Given the description of an element on the screen output the (x, y) to click on. 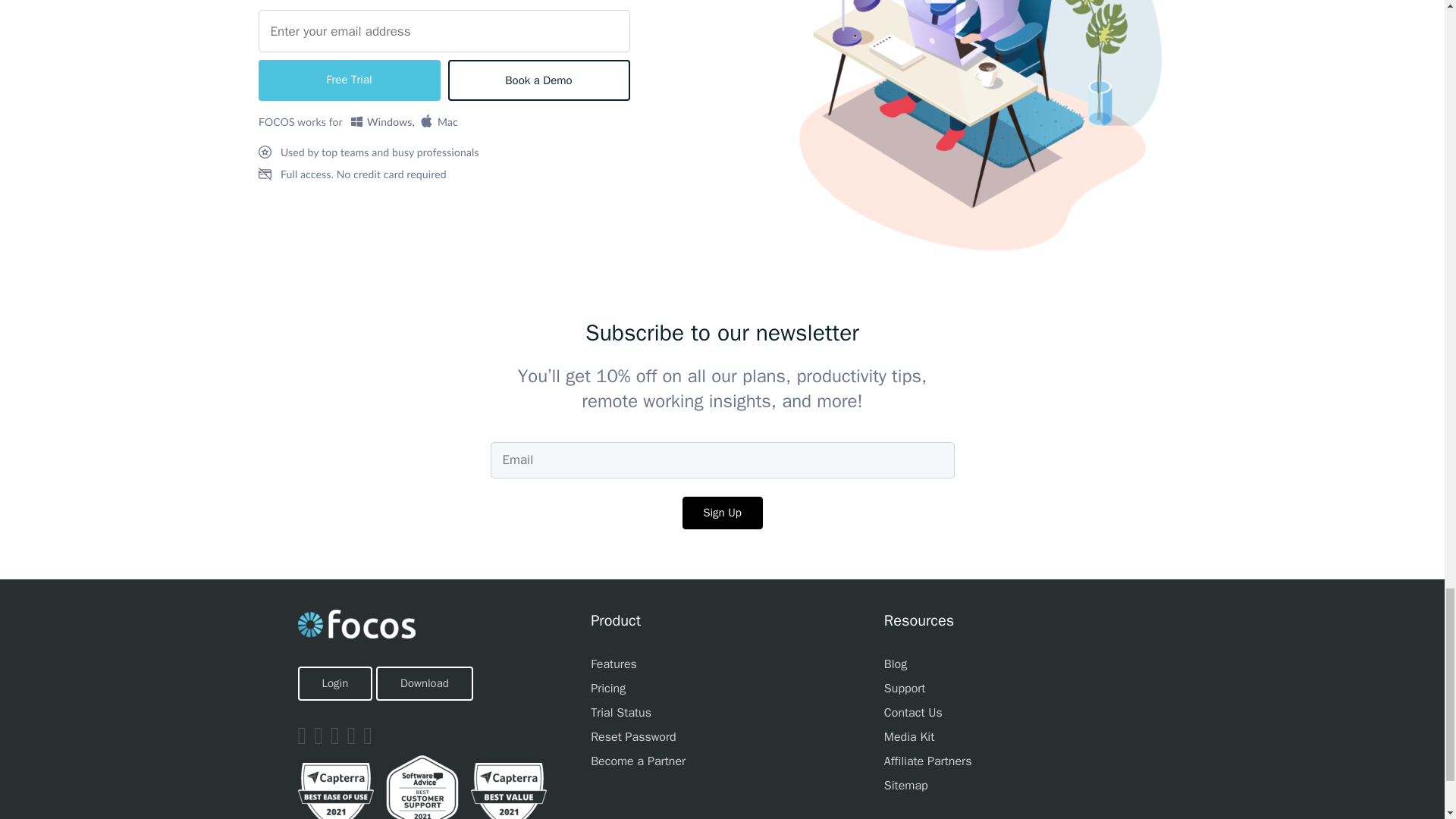
Sign Up (722, 512)
Ease of Use Badge (334, 790)
Customer Support Badge (421, 787)
Best Value Badge (508, 790)
